Given the description of an element on the screen output the (x, y) to click on. 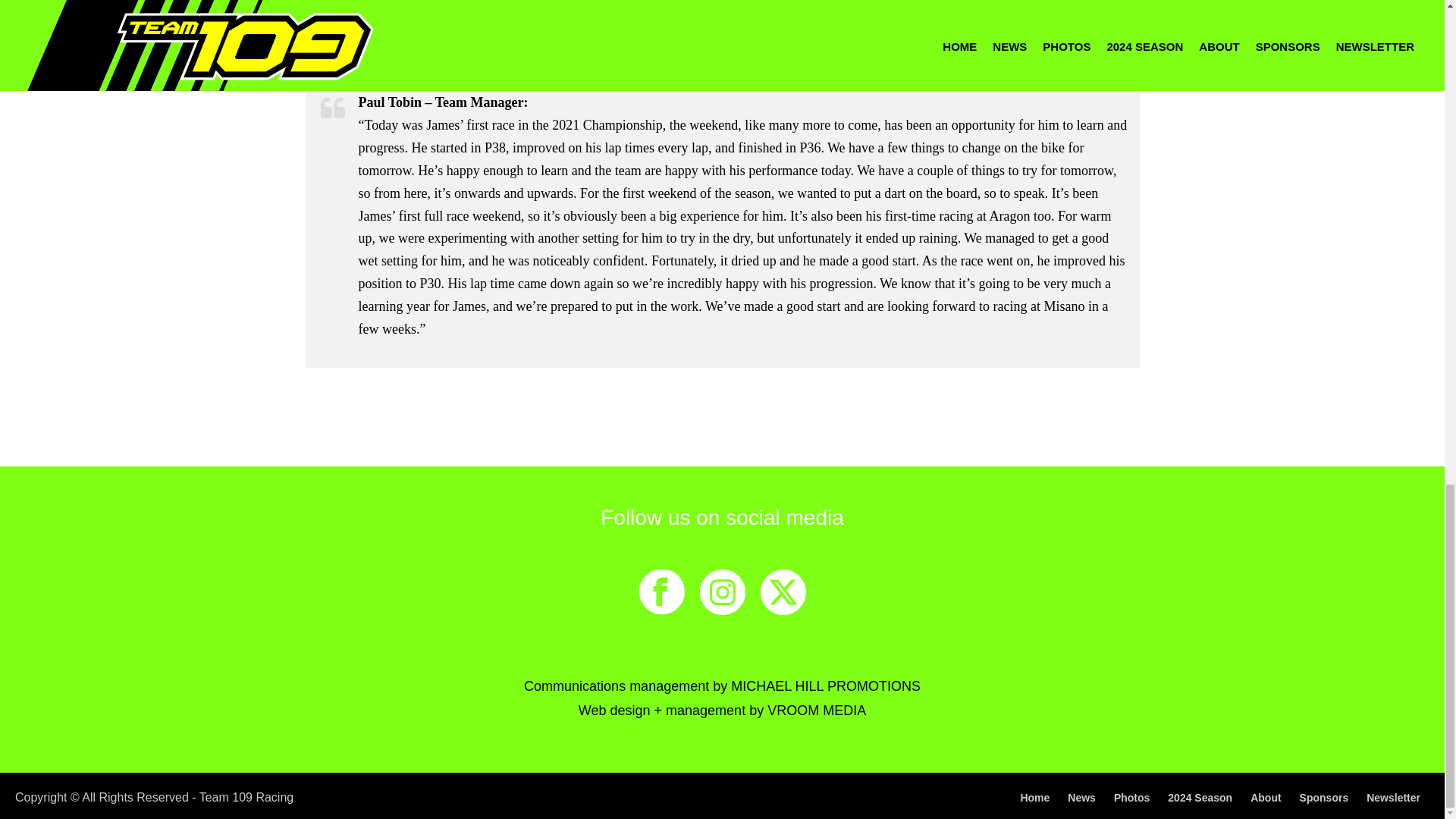
Home (1034, 797)
Communications management by MICHAEL HILL PROMOTIONS (721, 695)
Photos (1131, 797)
About (1265, 797)
News (1081, 797)
Follow Us on instagram (721, 593)
2024 Season (1199, 797)
Newsletter (1394, 797)
Follow Us on facebook (661, 593)
Sponsors (1324, 797)
